Given the description of an element on the screen output the (x, y) to click on. 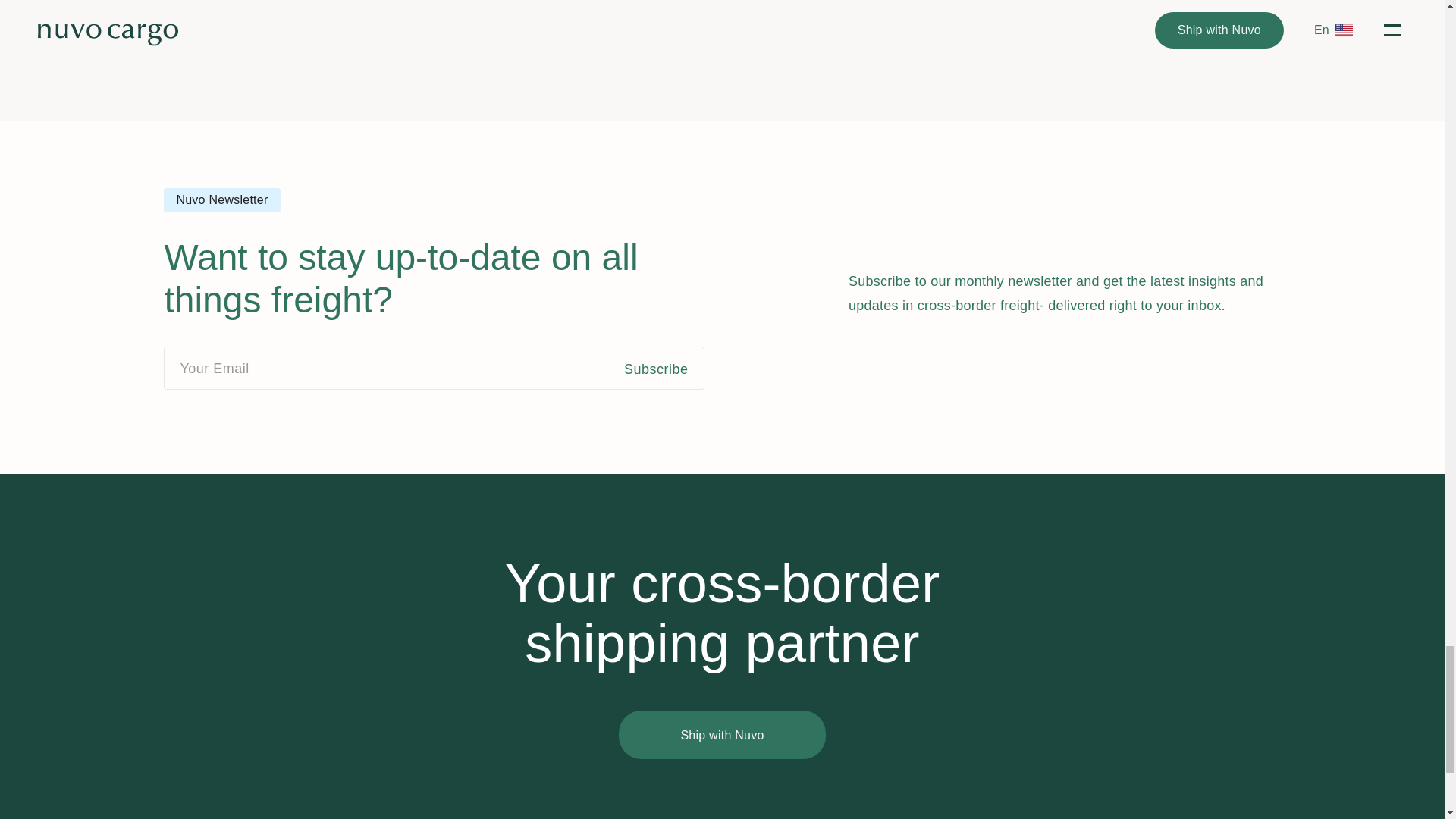
Subscribe (664, 367)
Subscribe (664, 367)
Ship with Nuvo (721, 734)
